Given the description of an element on the screen output the (x, y) to click on. 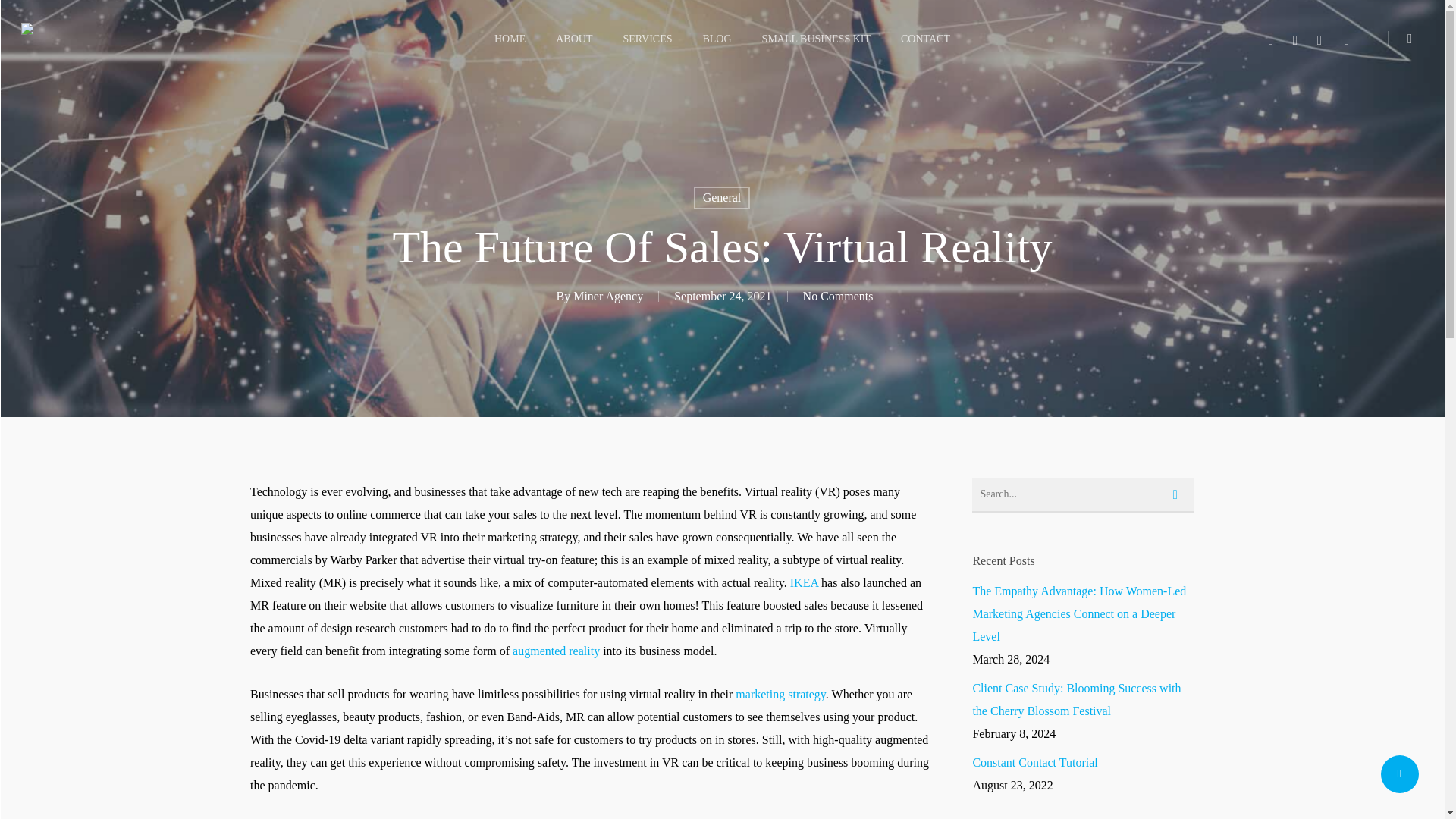
augmented reality (555, 650)
Facebook (1295, 38)
IKEA (804, 582)
CONTACT (925, 38)
SERVICES (647, 38)
Search for: (1082, 494)
Constant Contact Tutorial (1082, 762)
ABOUT (574, 38)
X-Twitter (1270, 38)
No Comments (838, 295)
Instagram (1346, 38)
HOME (510, 38)
Linkedin (1319, 38)
marketing strategy (780, 694)
